Given the description of an element on the screen output the (x, y) to click on. 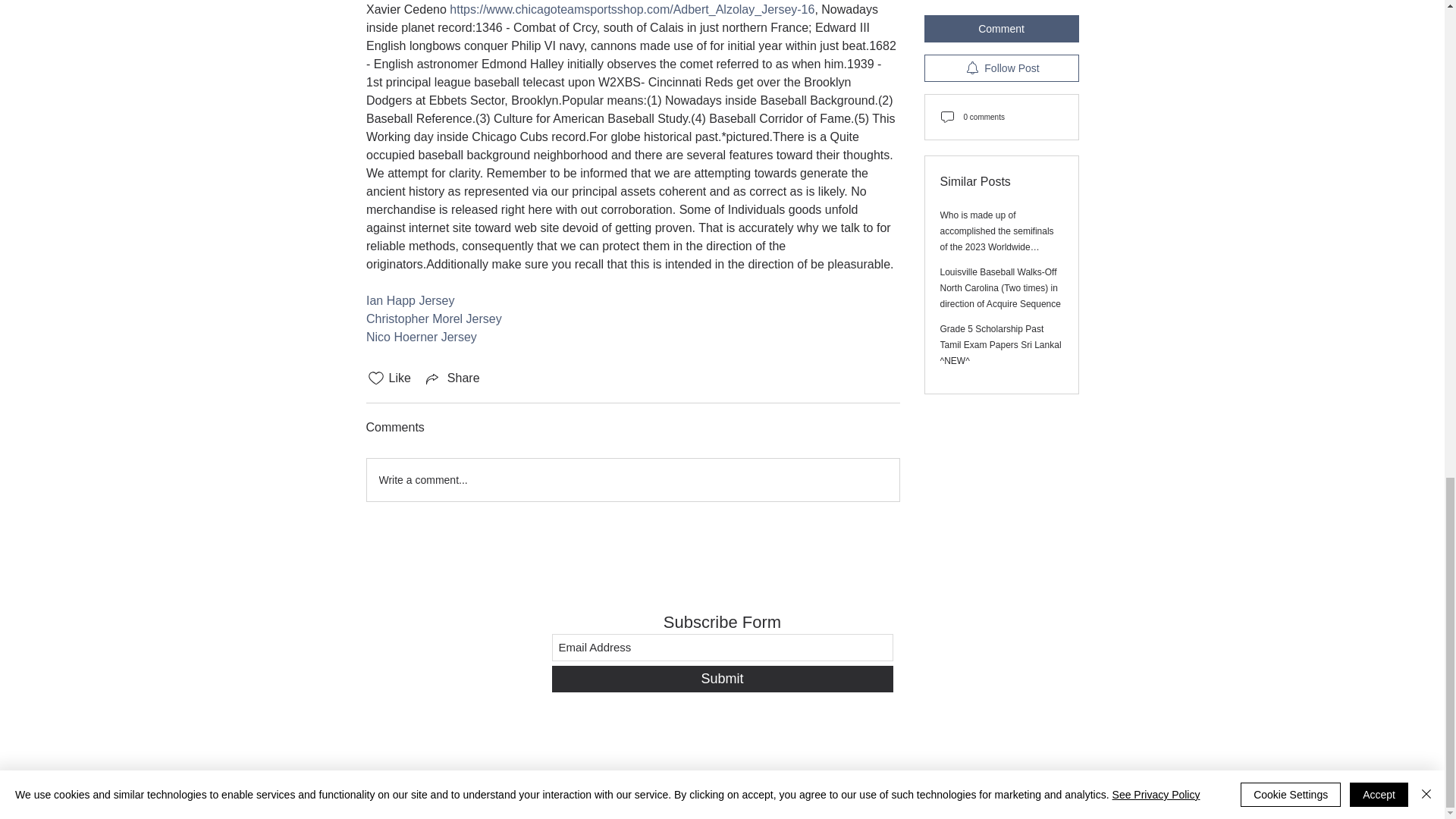
Write a comment... (632, 479)
Share (451, 378)
Christopher Morel Jersey (432, 318)
Ian Happ Jersey (409, 300)
Nico Hoerner Jersey (420, 336)
Submit (722, 678)
